Given the description of an element on the screen output the (x, y) to click on. 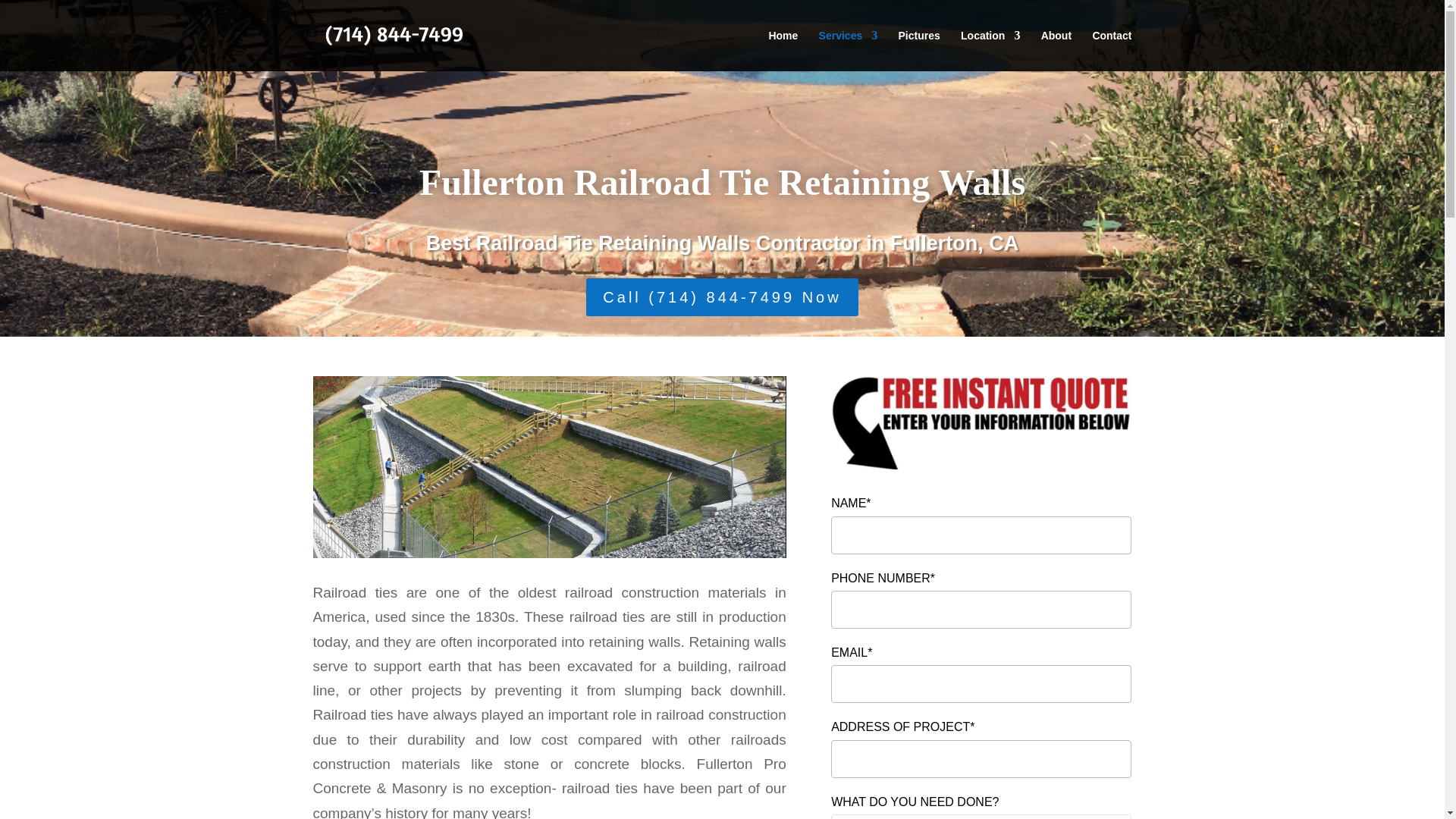
Pictures (918, 50)
Home (782, 50)
Services (847, 50)
Fullerton-railroad-tie-retaining-walls (549, 466)
Location (990, 50)
